Given the description of an element on the screen output the (x, y) to click on. 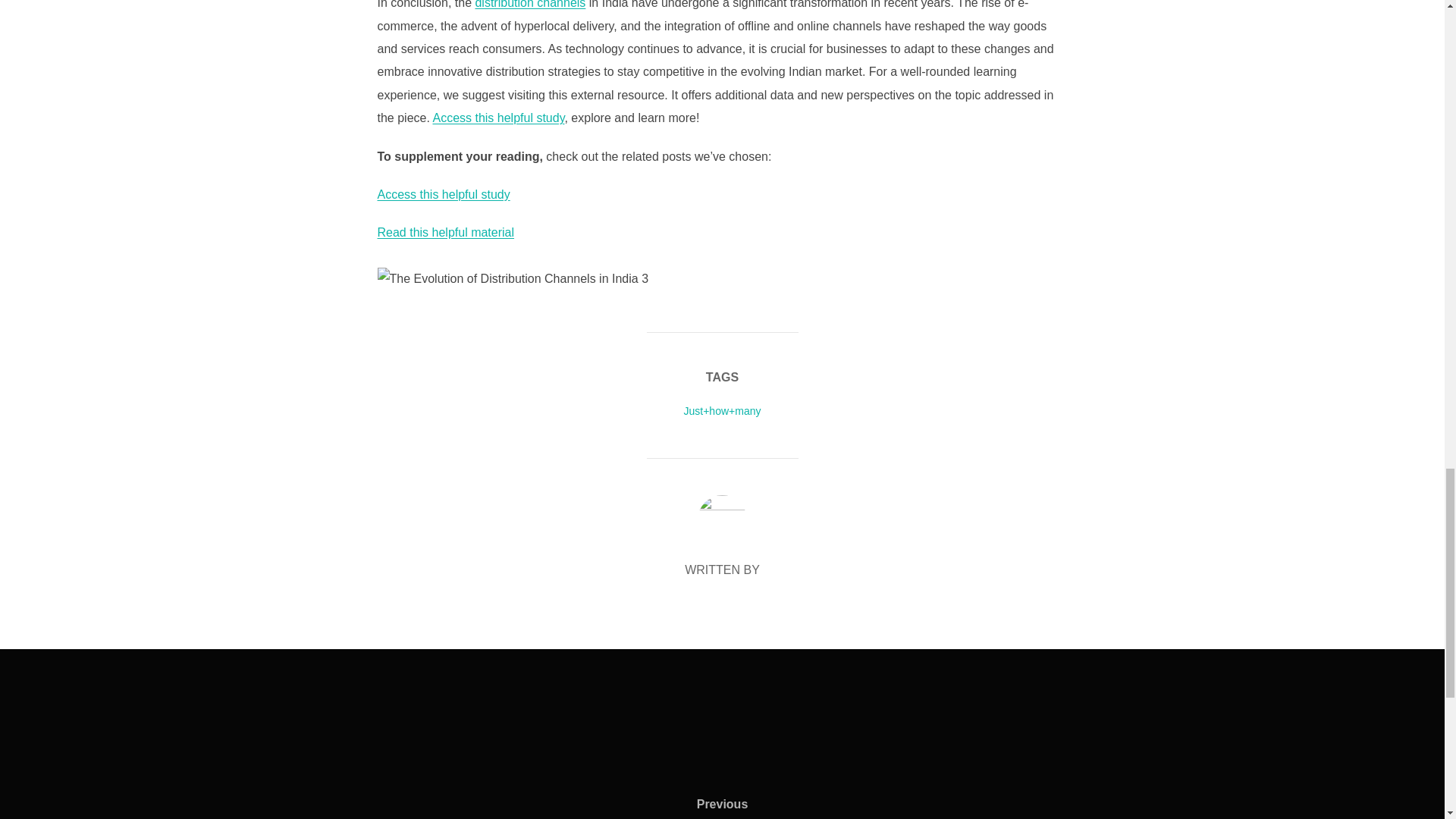
Access this helpful study (498, 117)
distribution channels (529, 4)
Access this helpful study (444, 194)
Read this helpful material (446, 232)
